Given the description of an element on the screen output the (x, y) to click on. 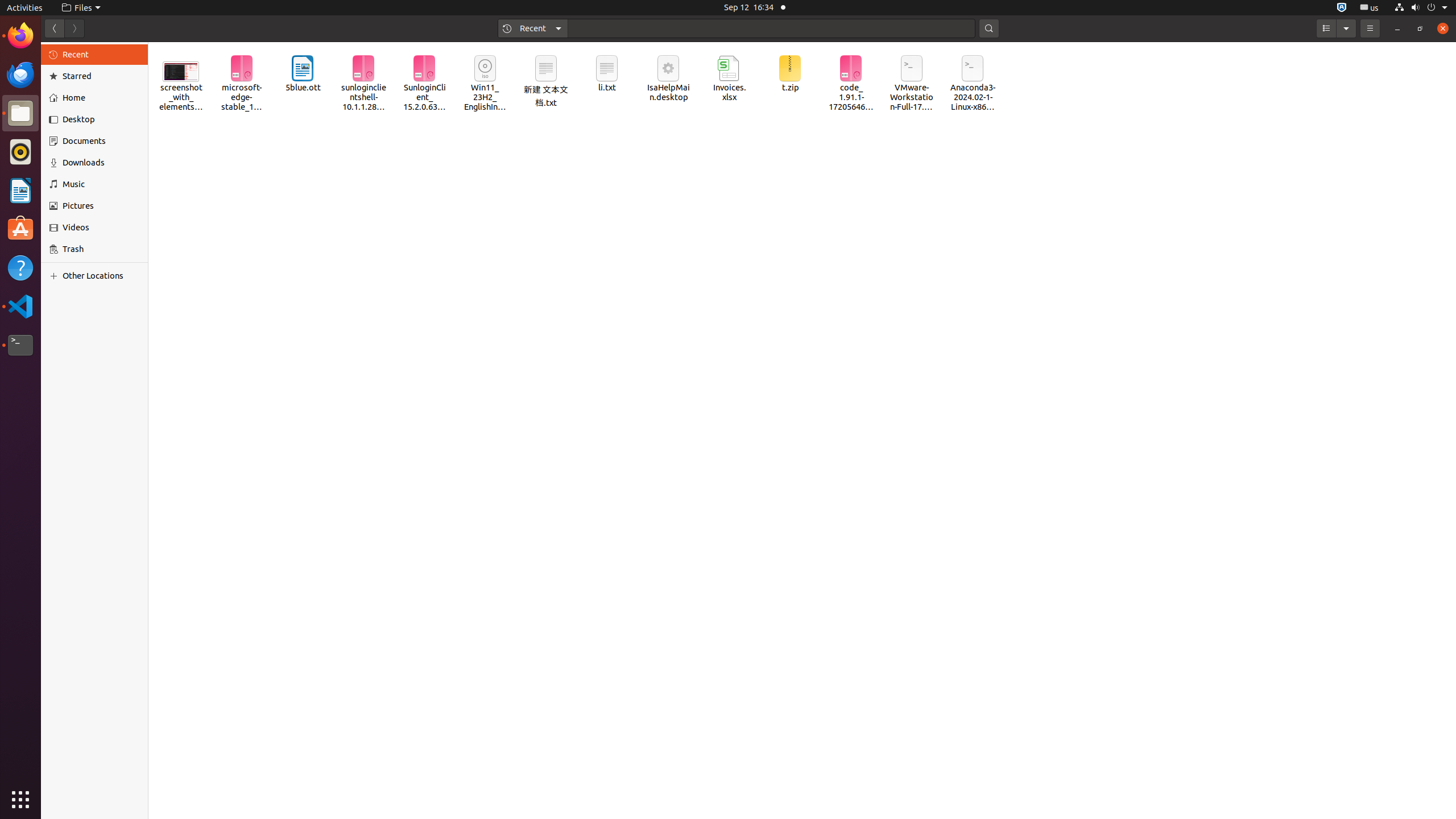
Close Element type: push-button (1442, 27)
Other Locations Element type: label (100, 275)
SunloginClient_15.2.0.63064_amd64.deb Element type: canvas (424, 83)
Win11_23H2_EnglishInternational_x64v2.iso Element type: canvas (485, 83)
